Given the description of an element on the screen output the (x, y) to click on. 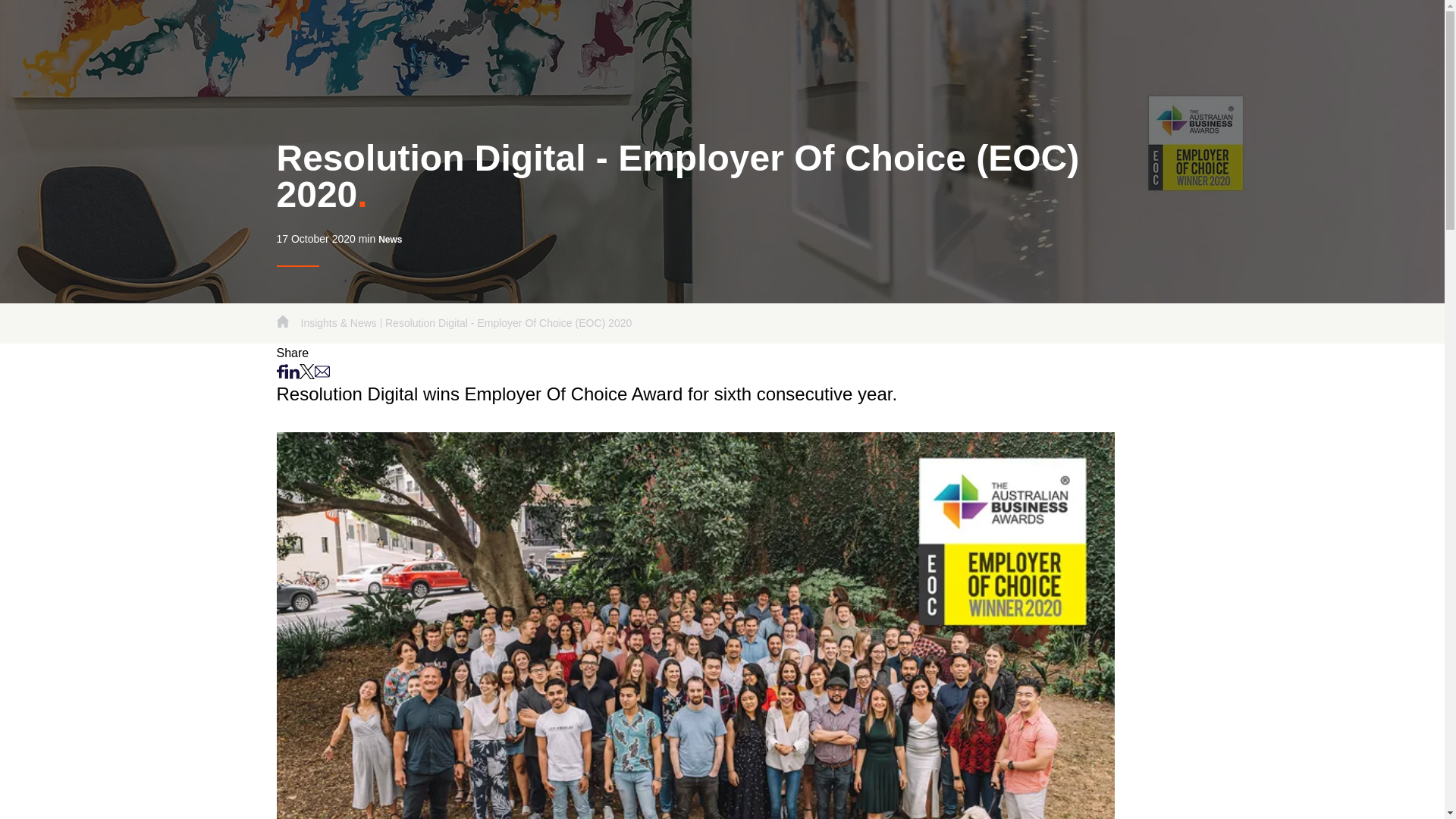
About (777, 30)
Technology (1149, 30)
Services (1071, 30)
Training (1226, 30)
Approach (844, 30)
Contact (1293, 30)
Consulting (923, 30)
Products (999, 30)
